Given the description of an element on the screen output the (x, y) to click on. 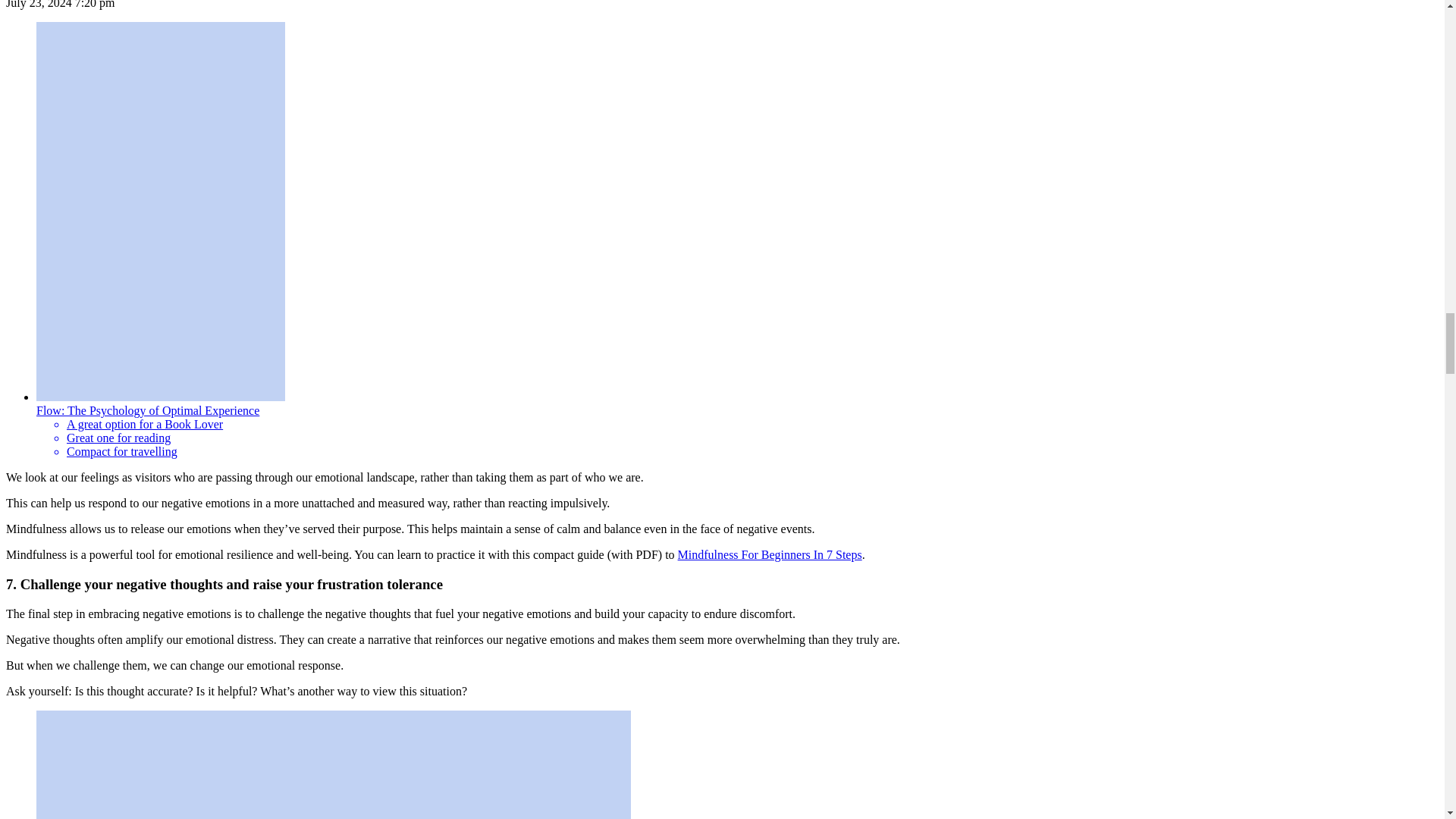
Mindfulness For Beginners In 7 Steps (769, 554)
